Given the description of an element on the screen output the (x, y) to click on. 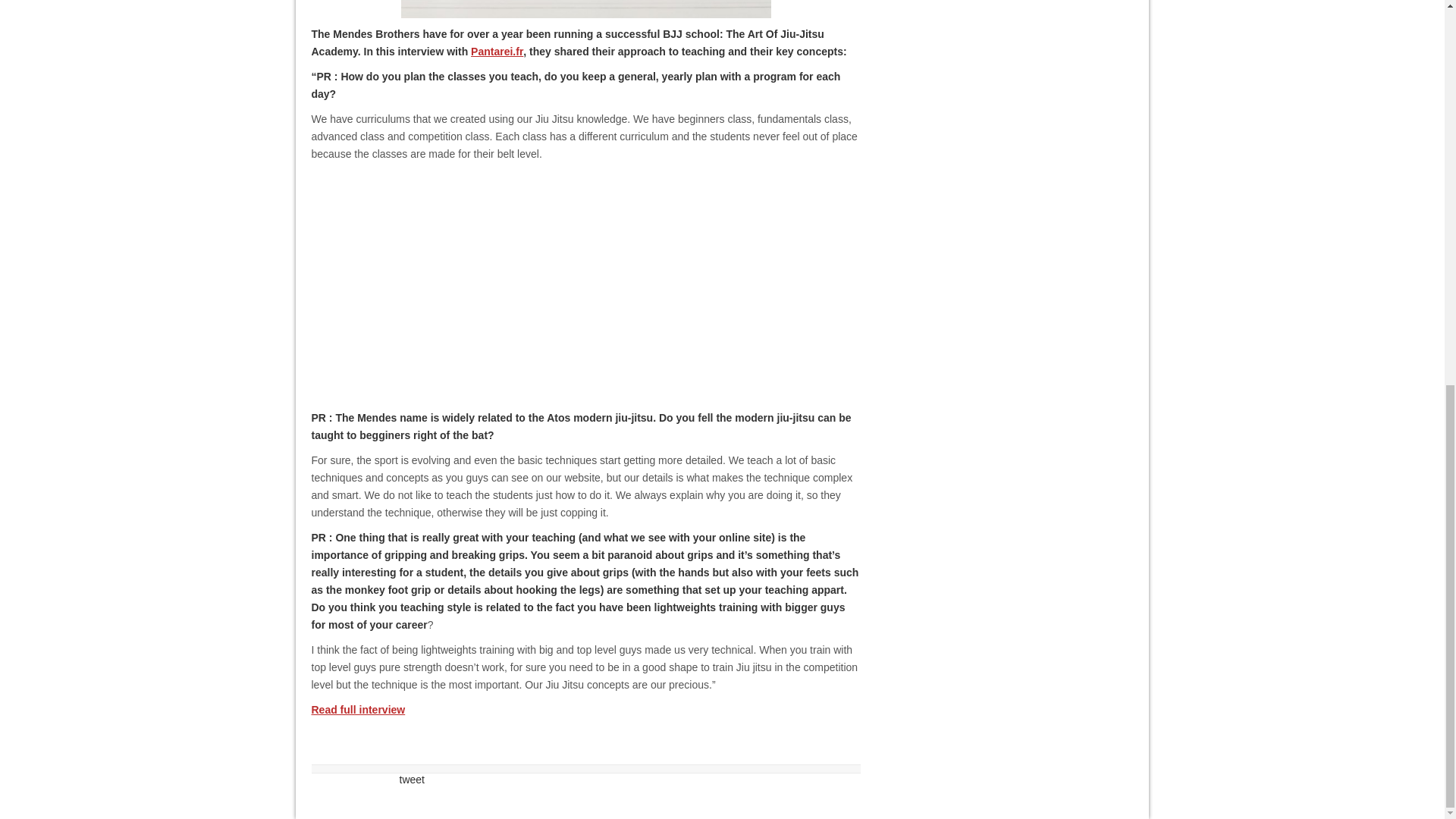
Read full interview (357, 709)
tweet (410, 779)
Pantarei.fr (496, 51)
